Given the description of an element on the screen output the (x, y) to click on. 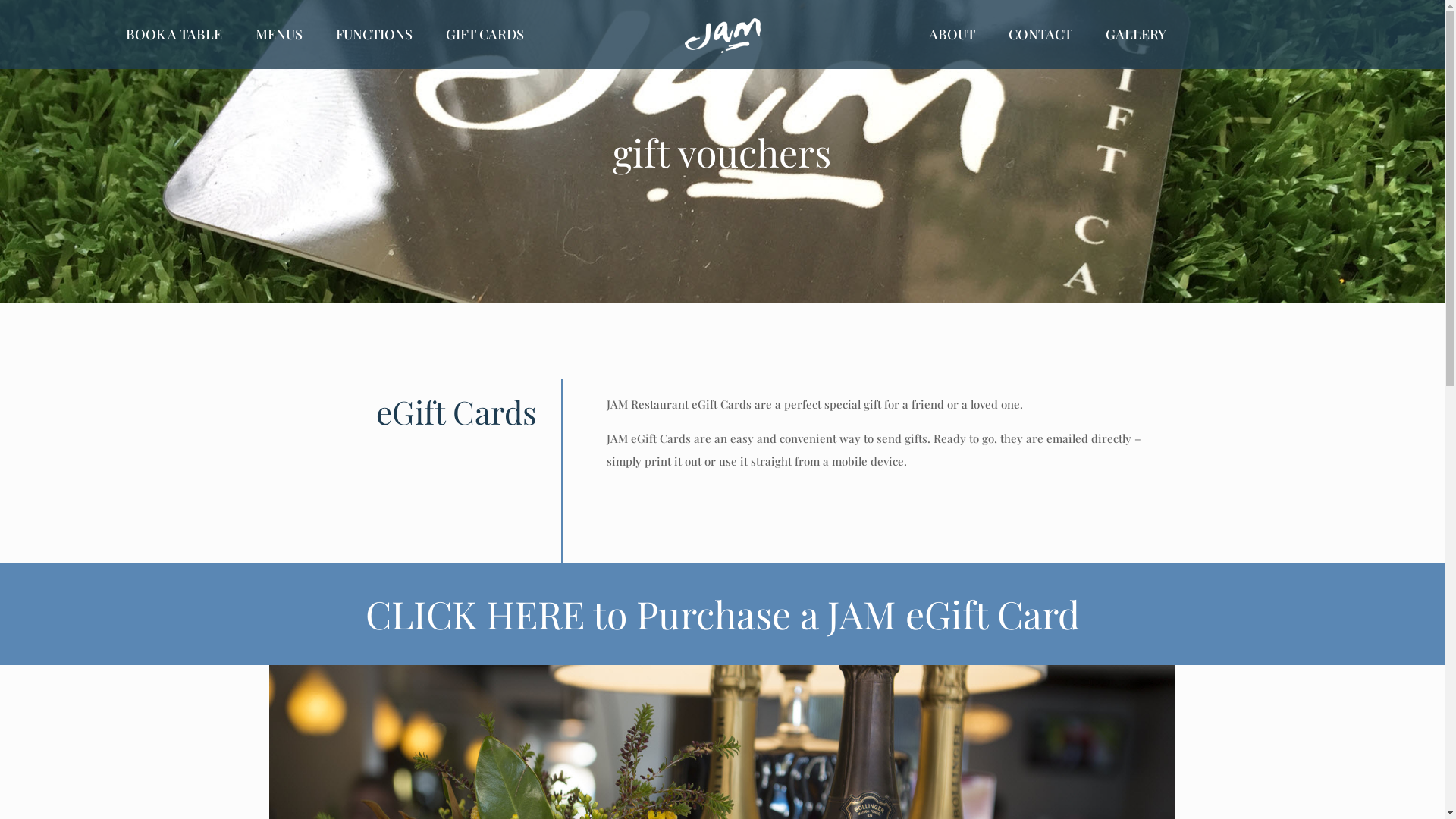
Jam Corner Element type: hover (721, 34)
CLICK HERE to Purchase a JAM eGift Card Element type: text (722, 613)
FUNCTIONS Element type: text (373, 34)
CONTACT Element type: text (1040, 34)
GALLERY Element type: text (1135, 34)
ABOUT Element type: text (951, 34)
BOOK A TABLE Element type: text (173, 34)
MENUS Element type: text (278, 34)
GIFT CARDS Element type: text (484, 34)
